Given the description of an element on the screen output the (x, y) to click on. 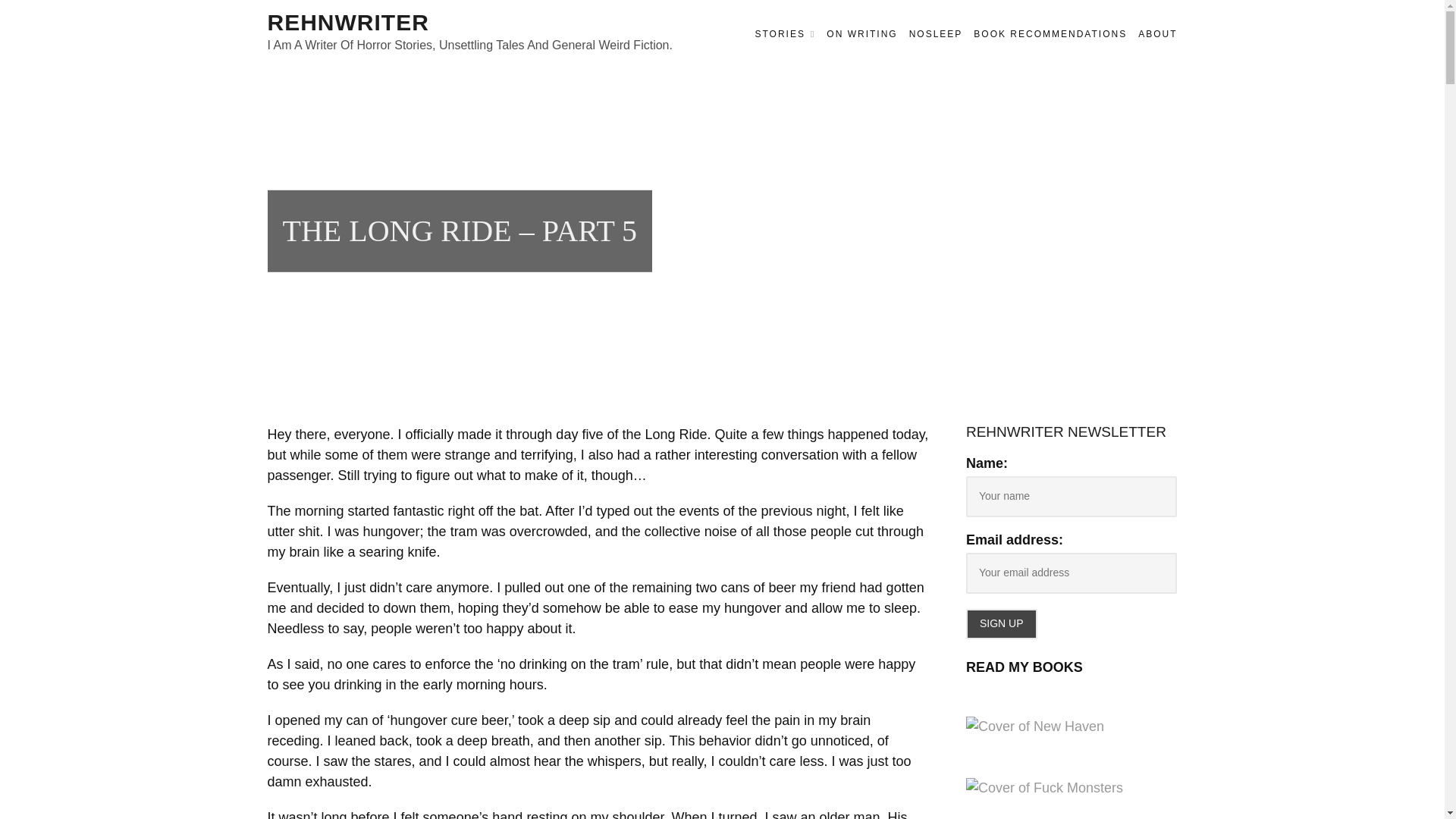
ON WRITING (861, 34)
NOSLEEP (935, 34)
BOOK RECOMMENDATIONS (1050, 34)
Sign up (1001, 624)
Sign up (1001, 624)
STORIES (784, 34)
REHNWRITER (347, 22)
